Given the description of an element on the screen output the (x, y) to click on. 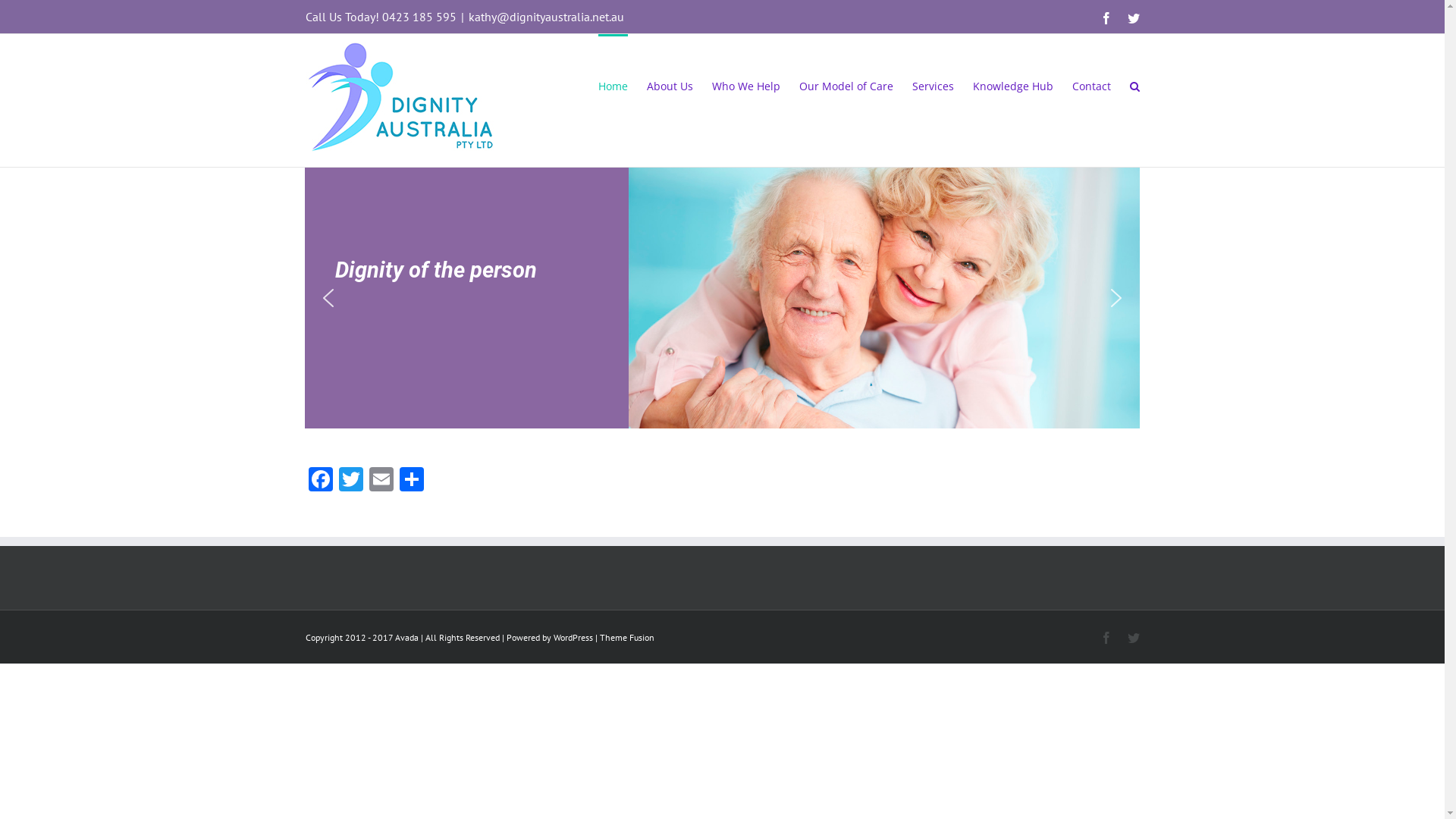
Facebook Element type: text (319, 480)
Twitter Element type: text (1132, 18)
Our Model of Care Element type: text (846, 85)
Email Element type: text (380, 480)
Theme Fusion Element type: text (626, 637)
Twitter Element type: text (1132, 637)
Who We Help Element type: text (745, 85)
Services Element type: text (932, 85)
Share Element type: text (410, 480)
WordPress Element type: text (573, 637)
Knowledge Hub Element type: text (1012, 85)
Facebook Element type: text (1105, 18)
Twitter Element type: text (350, 480)
About Us Element type: text (669, 85)
Home Element type: text (612, 85)
kathy@dignityaustralia.net.au Element type: text (546, 16)
Contact Element type: text (1091, 85)
Facebook Element type: text (1105, 637)
